Given the description of an element on the screen output the (x, y) to click on. 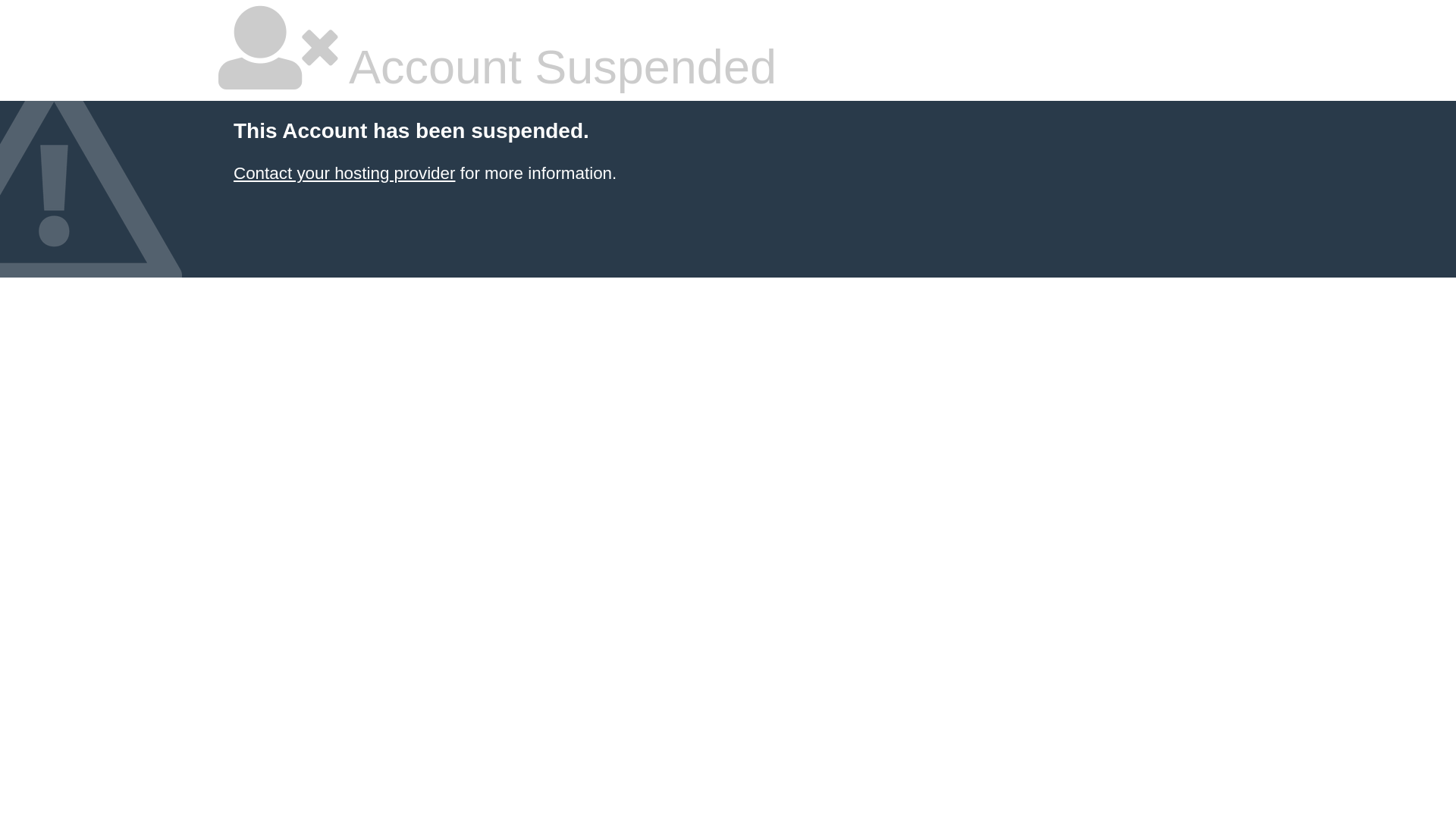
Contact your hosting provider Element type: text (344, 172)
